Given the description of an element on the screen output the (x, y) to click on. 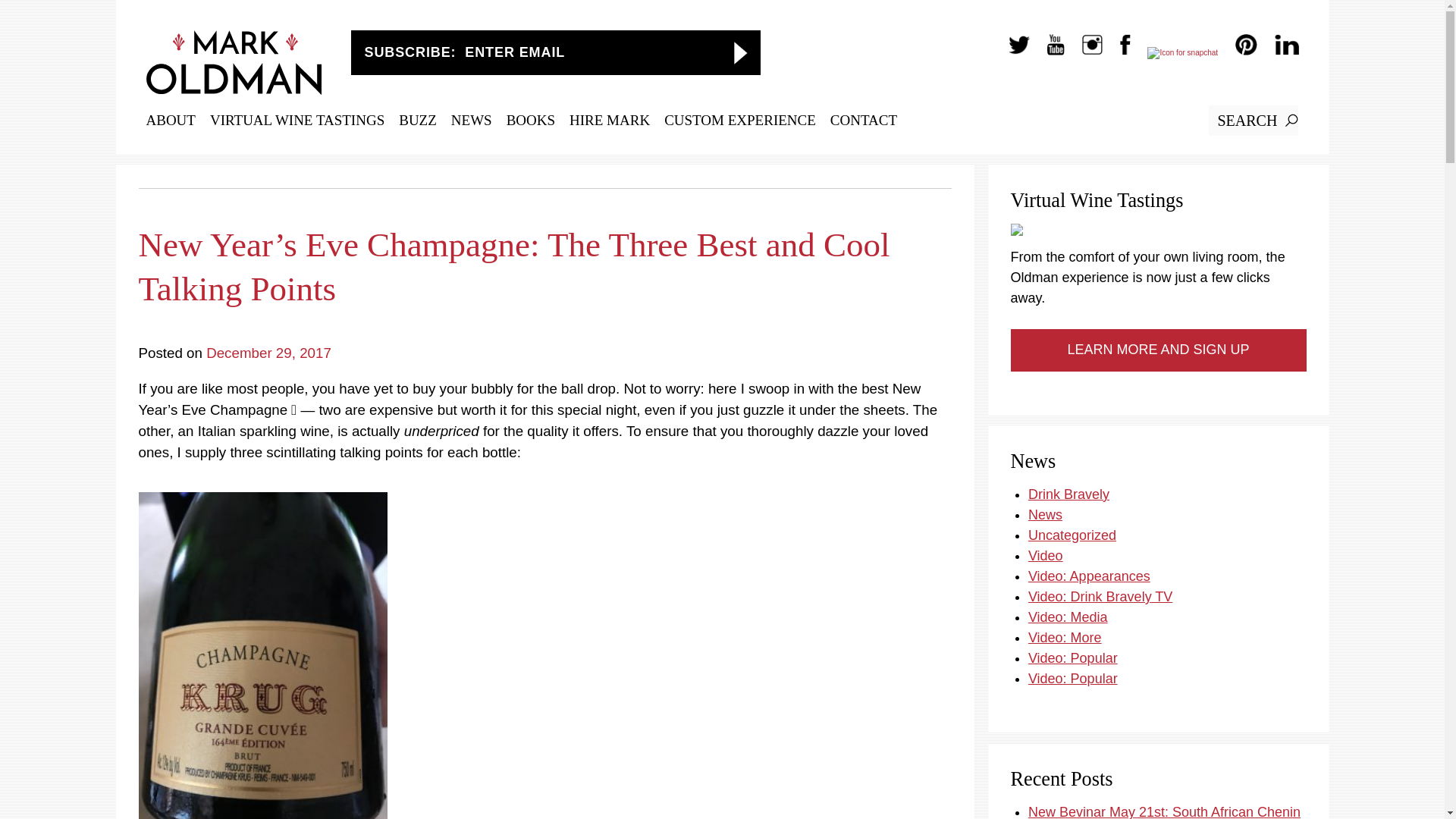
ABOUT (170, 120)
Facebook (1118, 52)
NEWS (471, 120)
CUSTOM EXPERIENCE (739, 120)
VIRTUAL WINE TASTINGS (296, 120)
CONTACT (862, 120)
BOOKS (530, 120)
LinkedIn (1278, 52)
December 29, 2017 (268, 352)
